Given the description of an element on the screen output the (x, y) to click on. 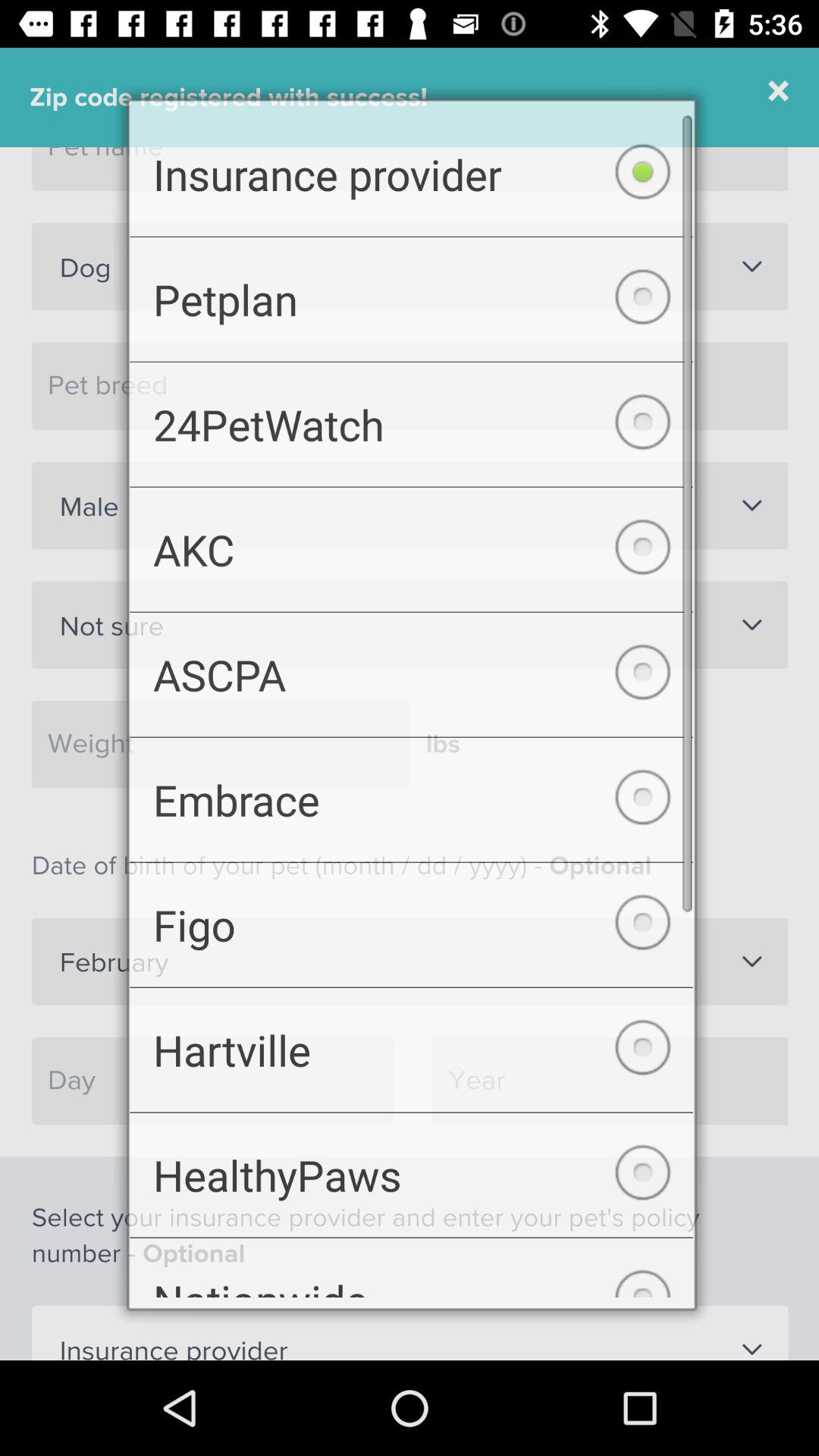
turn on the item below the figo checkbox (411, 1059)
